Given the description of an element on the screen output the (x, y) to click on. 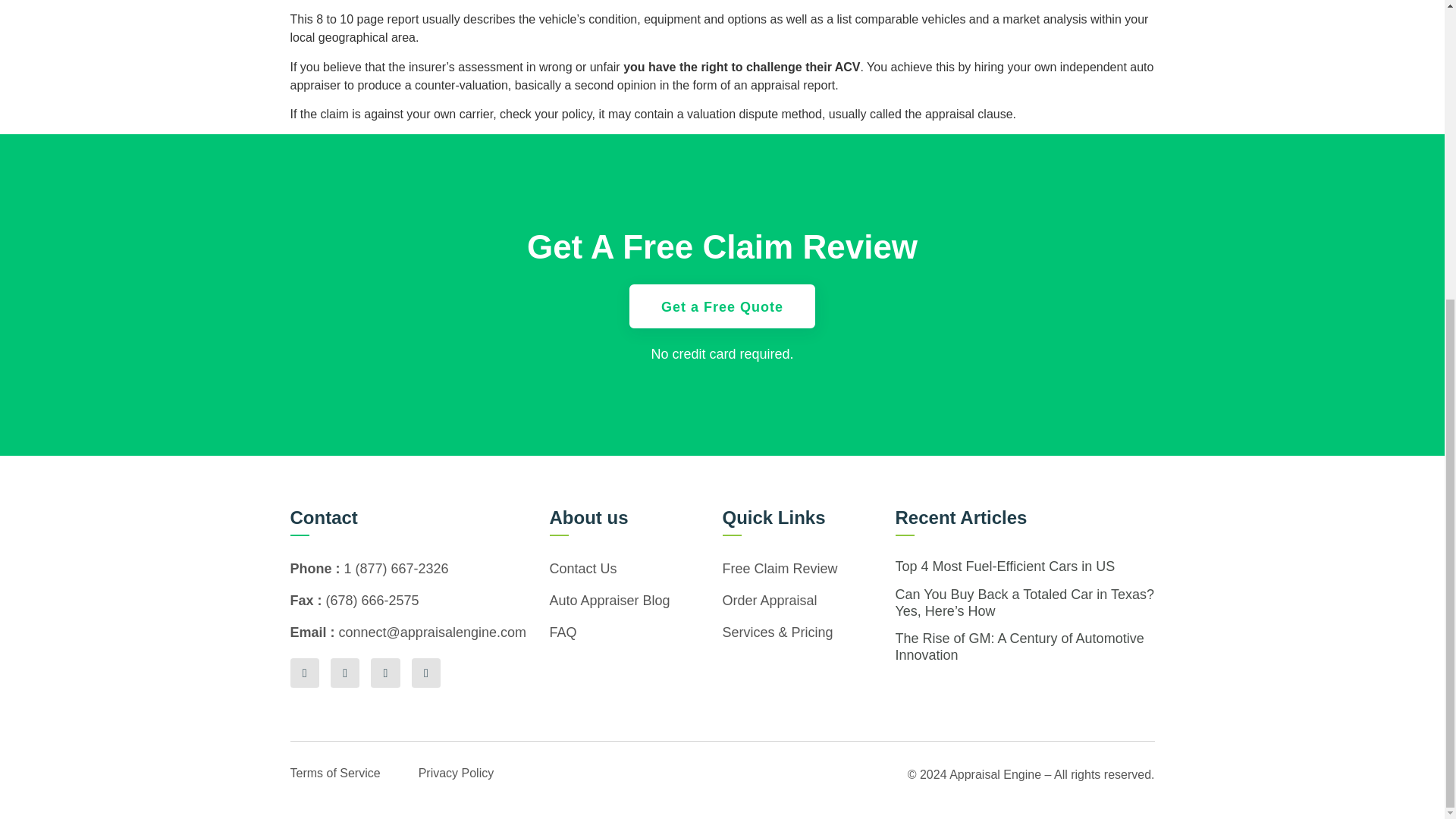
Order Appraisal (808, 600)
Top 4 Most Fuel-Efficient Cars in US (1005, 566)
Get a Free Quote (721, 306)
Free Claim Review (808, 568)
Contact Us (635, 568)
FAQ (635, 632)
Auto Appraiser Blog (635, 600)
